Given the description of an element on the screen output the (x, y) to click on. 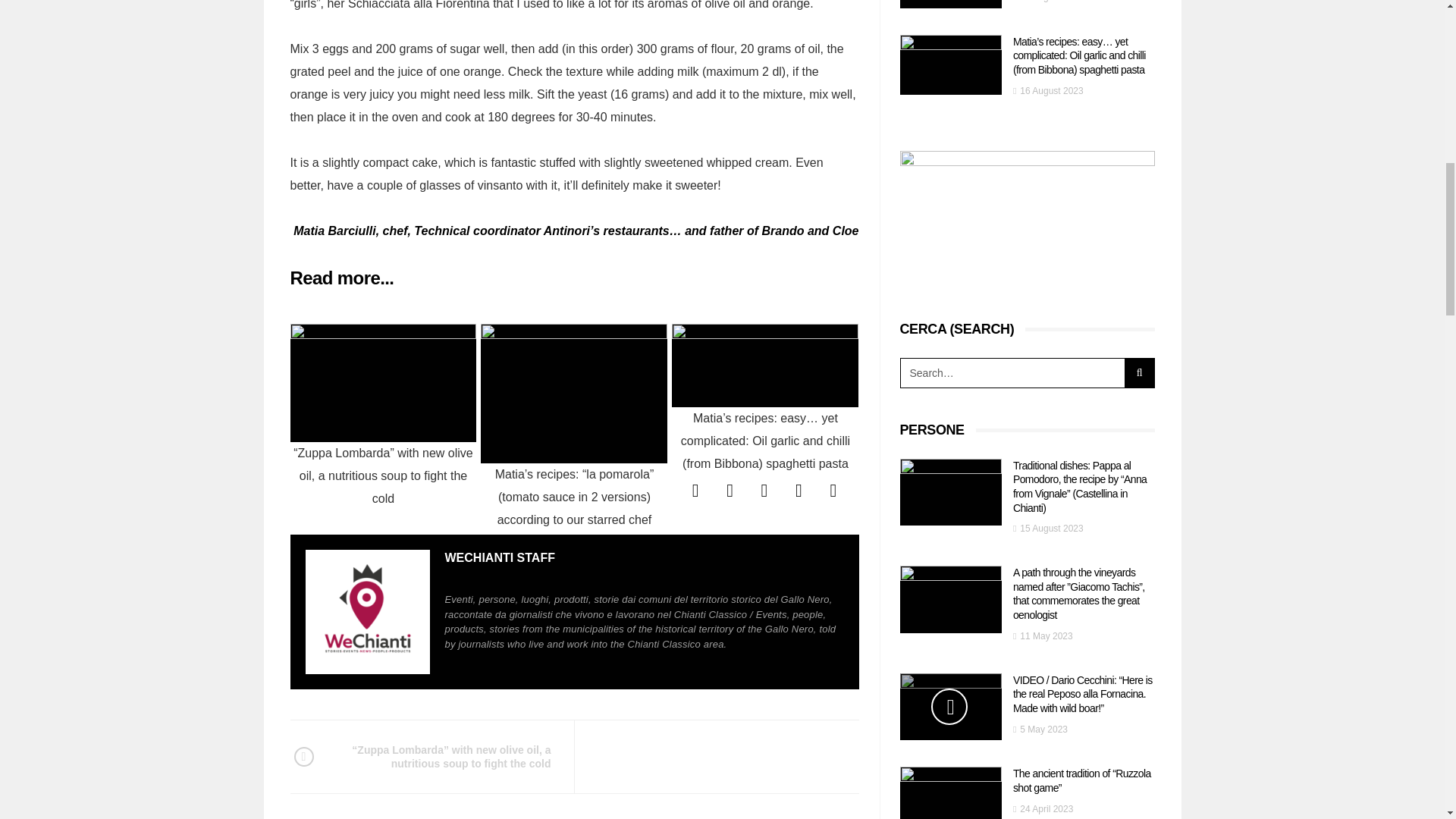
Search for: (1011, 372)
WECHIANTI STAFF (499, 557)
